Given the description of an element on the screen output the (x, y) to click on. 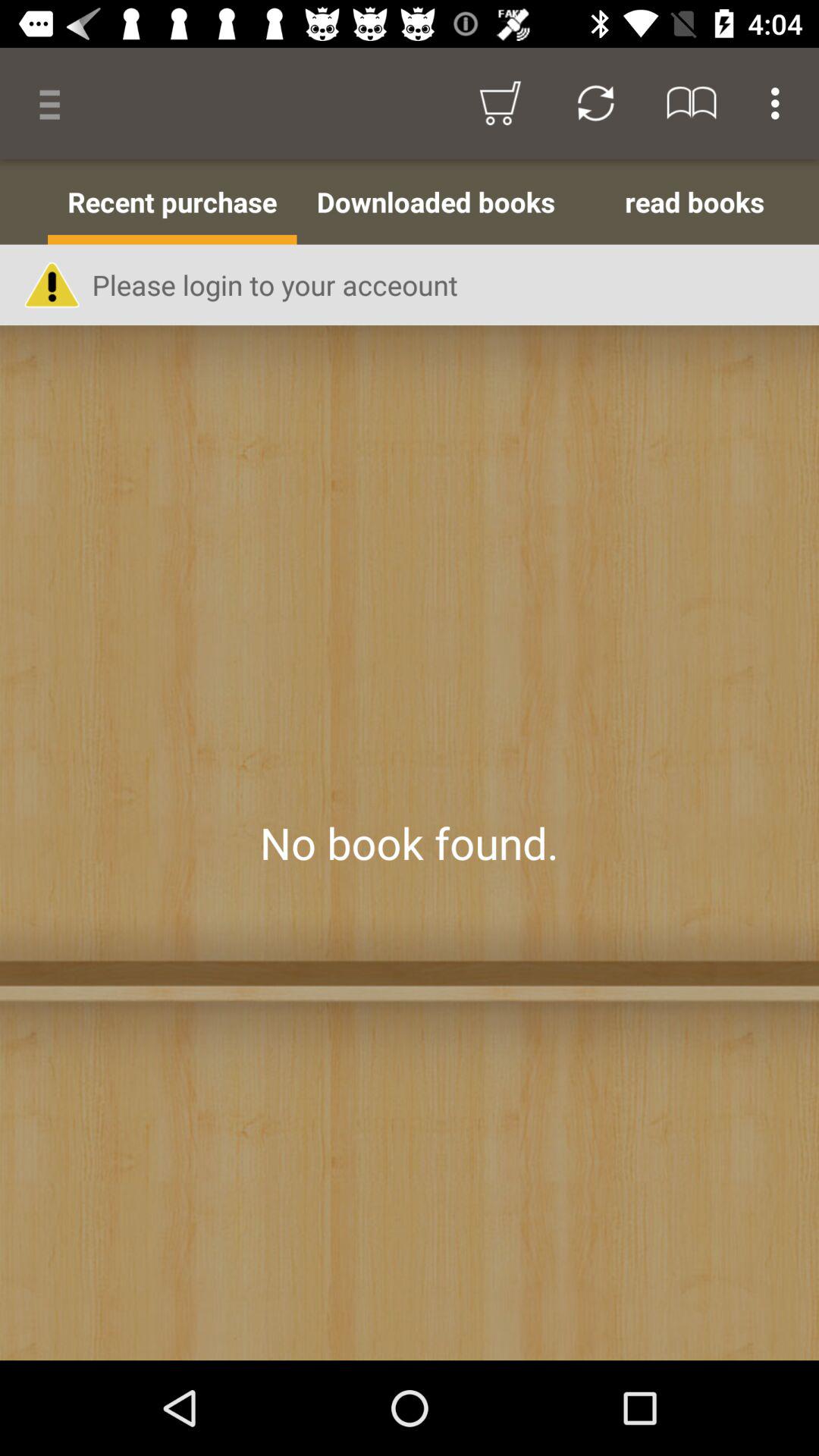
choose item to the right of recent purchase (435, 201)
